Given the description of an element on the screen output the (x, y) to click on. 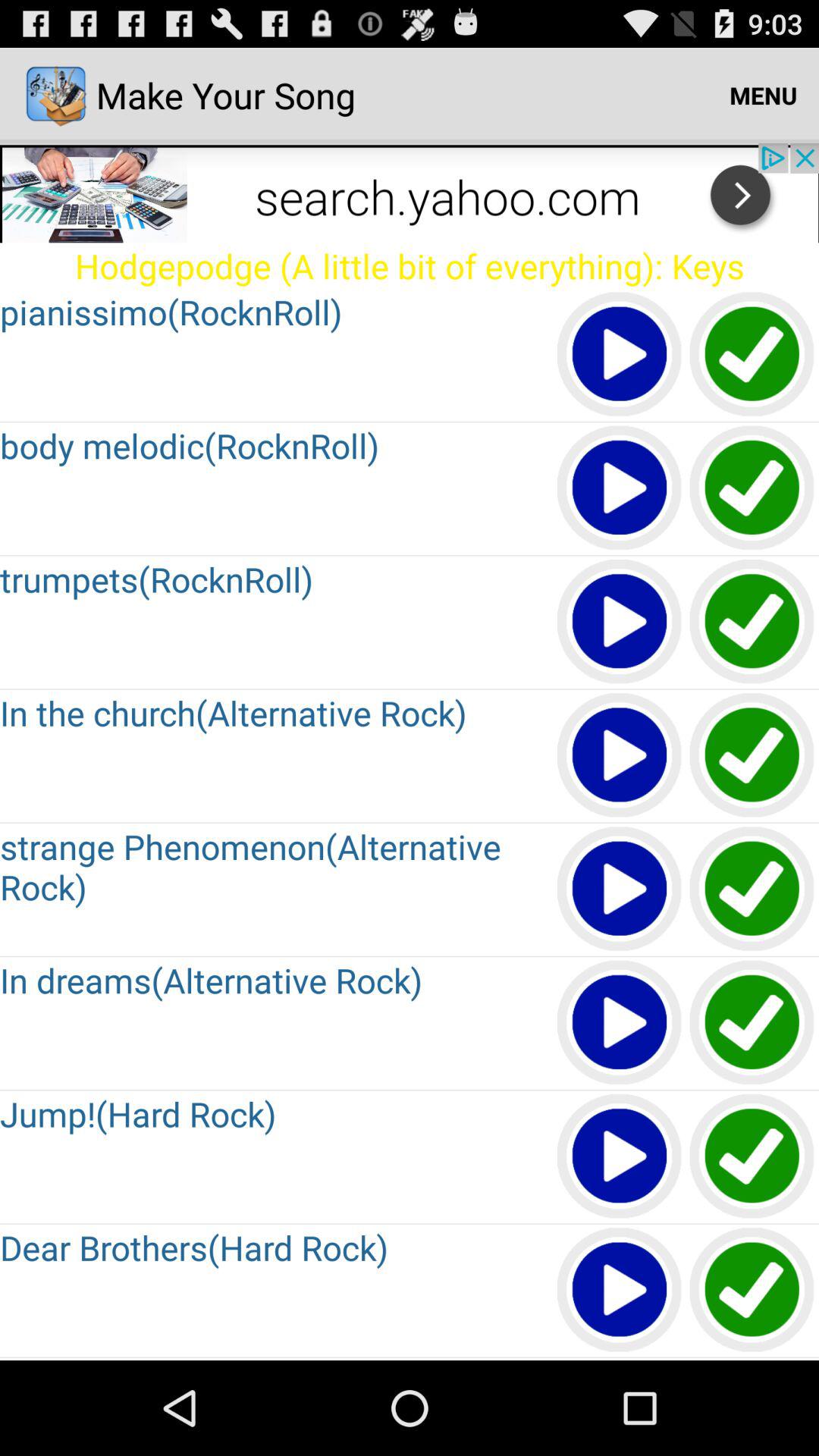
play button (619, 1359)
